Given the description of an element on the screen output the (x, y) to click on. 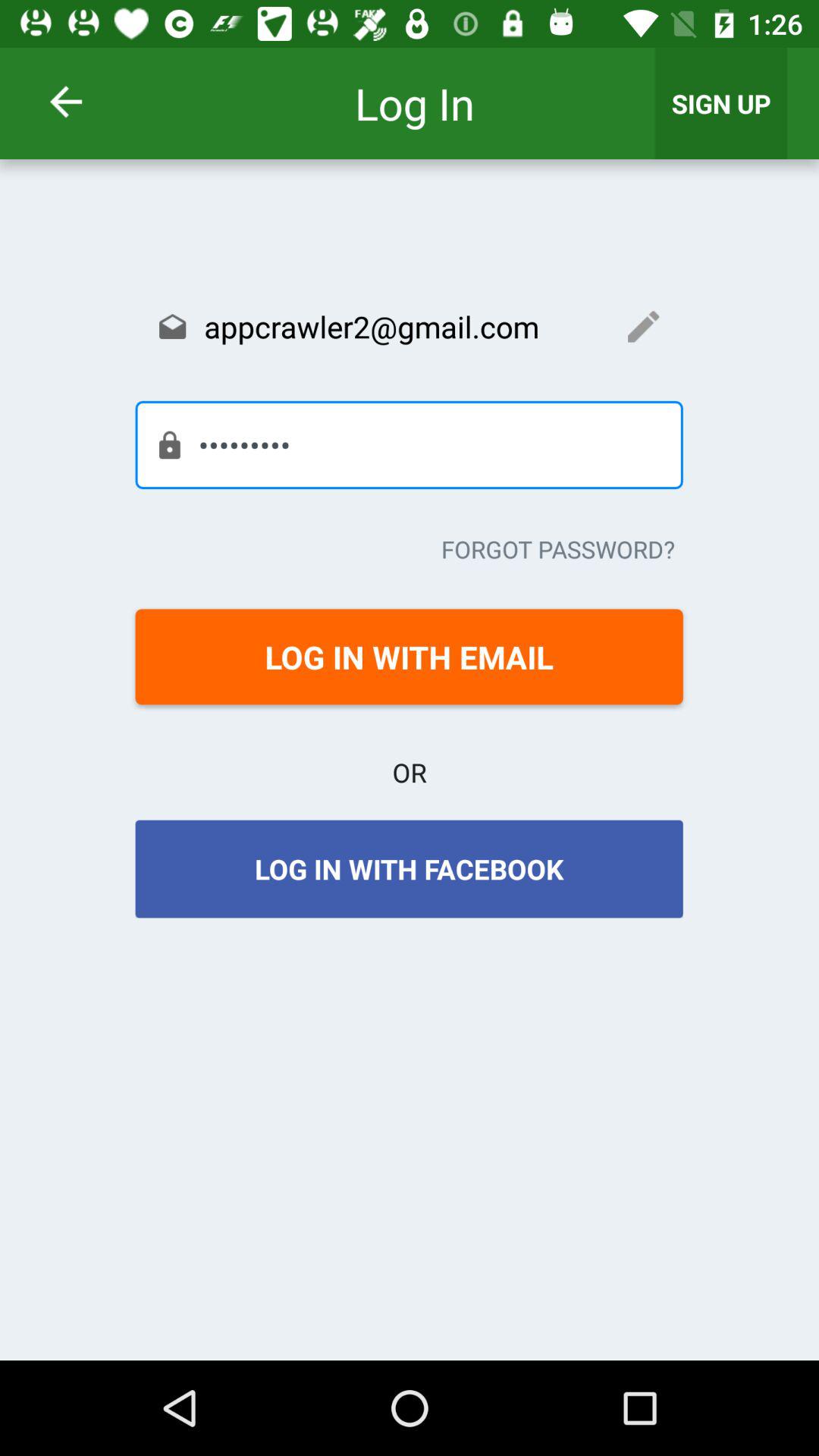
go back (85, 101)
